Given the description of an element on the screen output the (x, y) to click on. 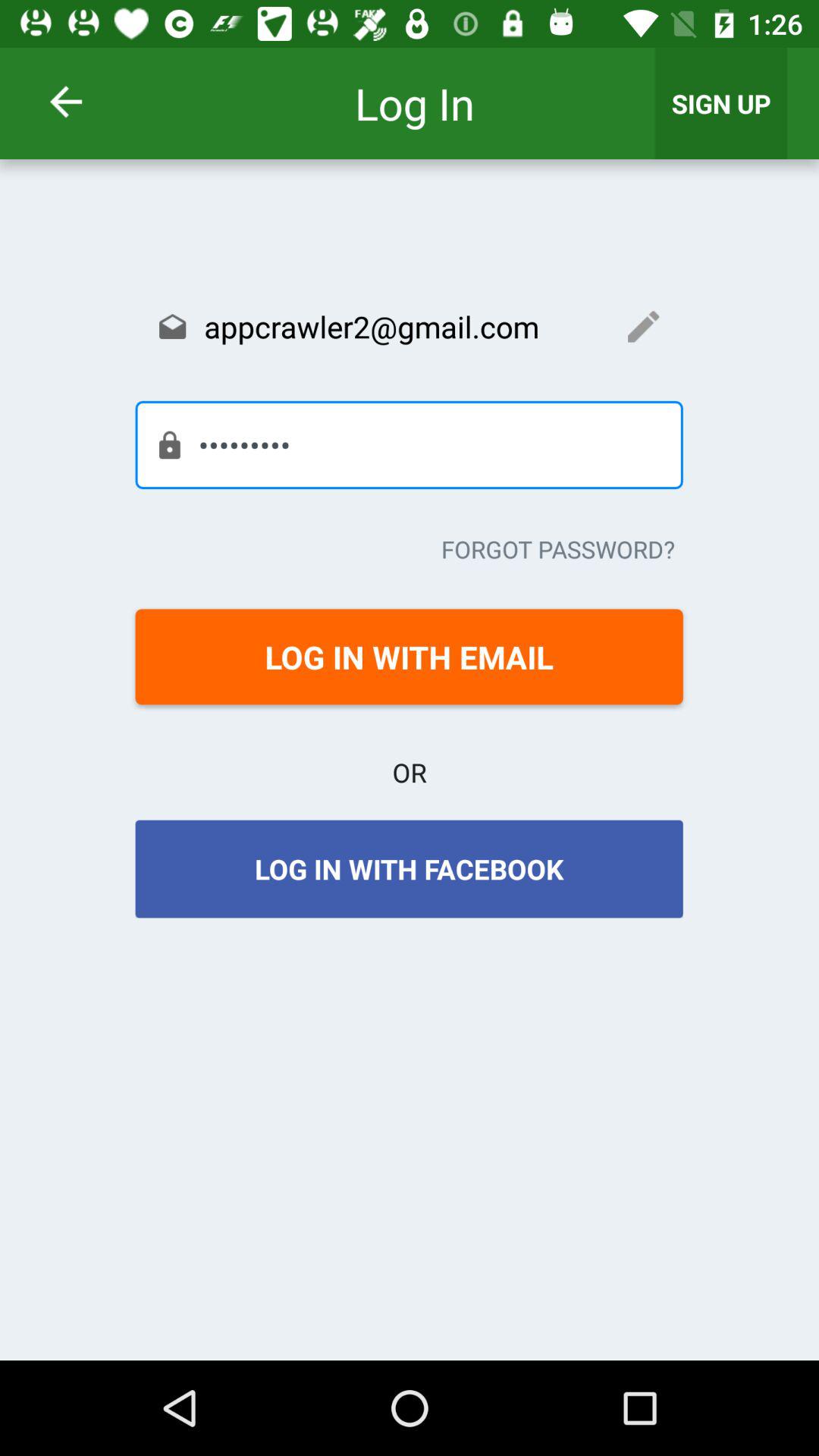
go back (85, 101)
